Given the description of an element on the screen output the (x, y) to click on. 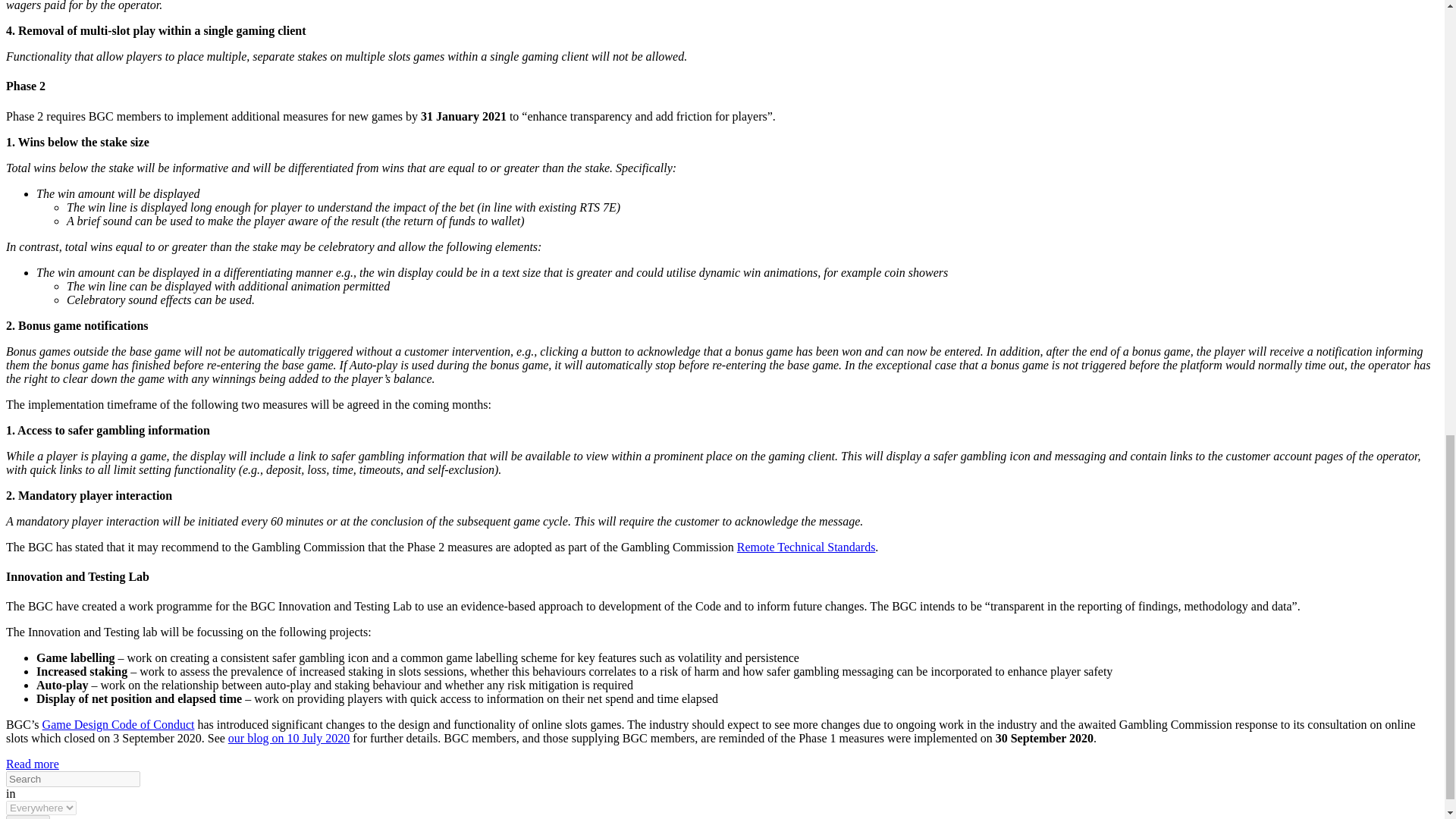
Read more (32, 763)
our blog on 10 July 2020 (288, 738)
Game Design Code of Conduct (118, 724)
Remote Technical Standards (806, 546)
